Given the description of an element on the screen output the (x, y) to click on. 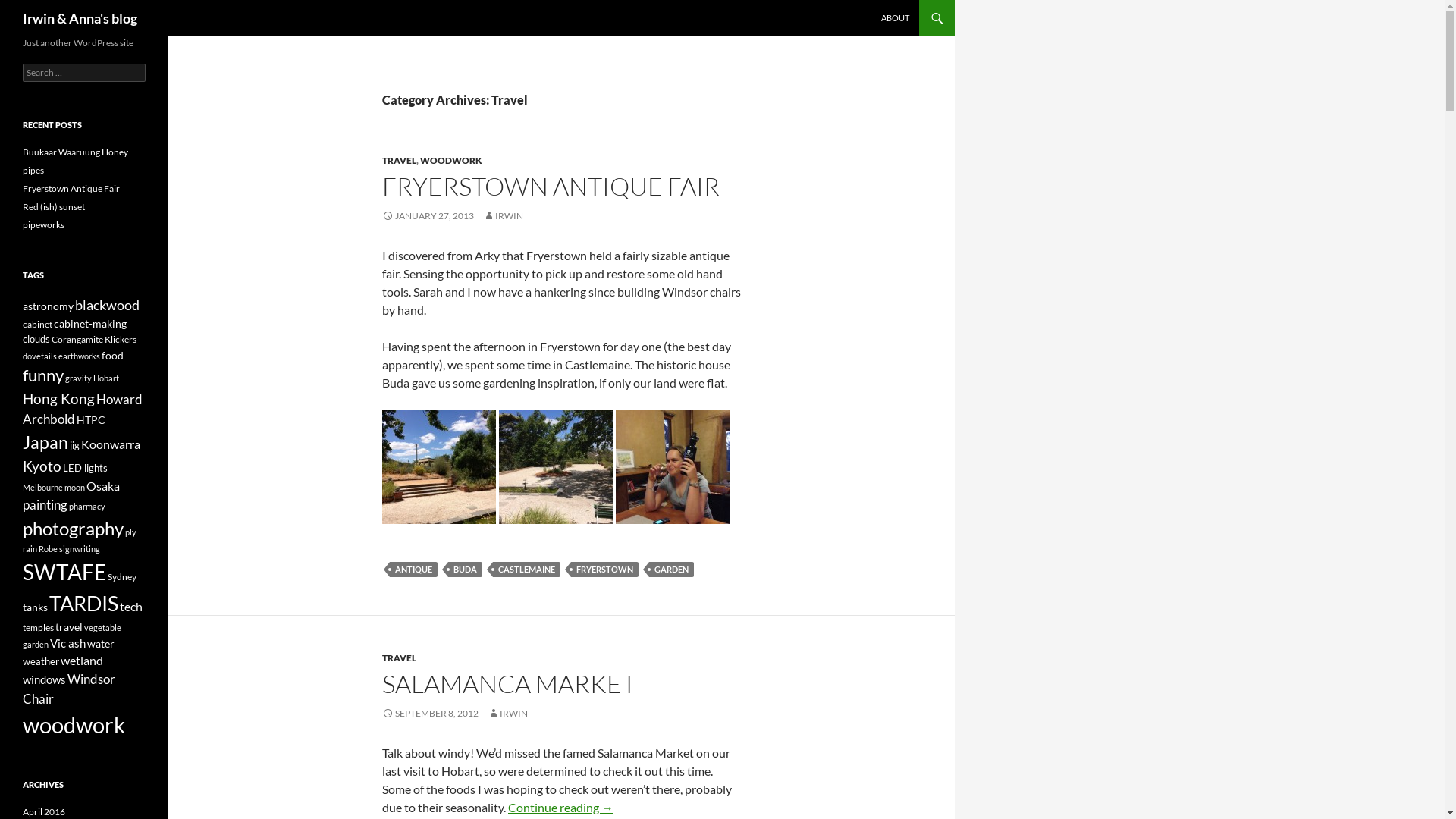
clouds Element type: text (36, 338)
dovetails Element type: text (39, 355)
WOODWORK Element type: text (451, 160)
FRYERSTOWN ANTIQUE FAIR Element type: text (550, 185)
Windsor Chair Element type: text (68, 688)
travel Element type: text (68, 626)
ply Element type: text (130, 531)
Koonwarra Element type: text (110, 444)
ANTIQUE Element type: text (413, 569)
tanks Element type: text (34, 606)
FRYERSTOWN Element type: text (604, 569)
vegetable garden Element type: text (71, 635)
JANUARY 27, 2013 Element type: text (427, 215)
water Element type: text (100, 643)
windows Element type: text (43, 679)
cabinet Element type: text (37, 323)
Hong Kong Element type: text (58, 398)
Japan Element type: text (45, 441)
earthworks Element type: text (79, 355)
April 2016 Element type: text (43, 811)
TRAVEL Element type: text (399, 657)
SWTAFE Element type: text (64, 571)
pipeworks Element type: text (43, 224)
Fryerstown Antique Fair Element type: text (70, 188)
HTPC Element type: text (90, 419)
TRAVEL Element type: text (399, 160)
SALAMANCA MARKET Element type: text (509, 683)
Irwin & Anna's blog Element type: text (79, 18)
tech Element type: text (130, 606)
woodwork Element type: text (73, 724)
cabinet-making Element type: text (89, 322)
Howard Archbold Element type: text (82, 409)
Kyoto Element type: text (41, 465)
Red (ish) sunset Element type: text (53, 206)
signwriting Element type: text (79, 548)
gravity Element type: text (78, 377)
Robe Element type: text (47, 548)
jig Element type: text (74, 445)
Search Element type: text (29, 9)
moon Element type: text (74, 487)
wetland Element type: text (81, 660)
TARDIS Element type: text (83, 602)
Melbourne Element type: text (42, 487)
ABOUT Element type: text (895, 18)
temples Element type: text (37, 627)
GARDEN Element type: text (671, 569)
pharmacy Element type: text (87, 506)
Buukaar Waaruung Honey Element type: text (75, 151)
pipes Element type: text (32, 169)
BUDA Element type: text (465, 569)
funny Element type: text (42, 374)
IRWIN Element type: text (503, 215)
weather Element type: text (40, 661)
food Element type: text (112, 354)
painting Element type: text (44, 504)
IRWIN Element type: text (507, 712)
Vic ash Element type: text (67, 642)
SEPTEMBER 8, 2012 Element type: text (430, 712)
Hobart Element type: text (106, 377)
Corangamite Klickers Element type: text (93, 339)
LED lights Element type: text (84, 467)
CASTLEMAINE Element type: text (526, 569)
Sydney Element type: text (121, 576)
astronomy Element type: text (47, 305)
blackwood Element type: text (107, 305)
photography Element type: text (72, 528)
rain Element type: text (29, 548)
Osaka Element type: text (102, 485)
